Given the description of an element on the screen output the (x, y) to click on. 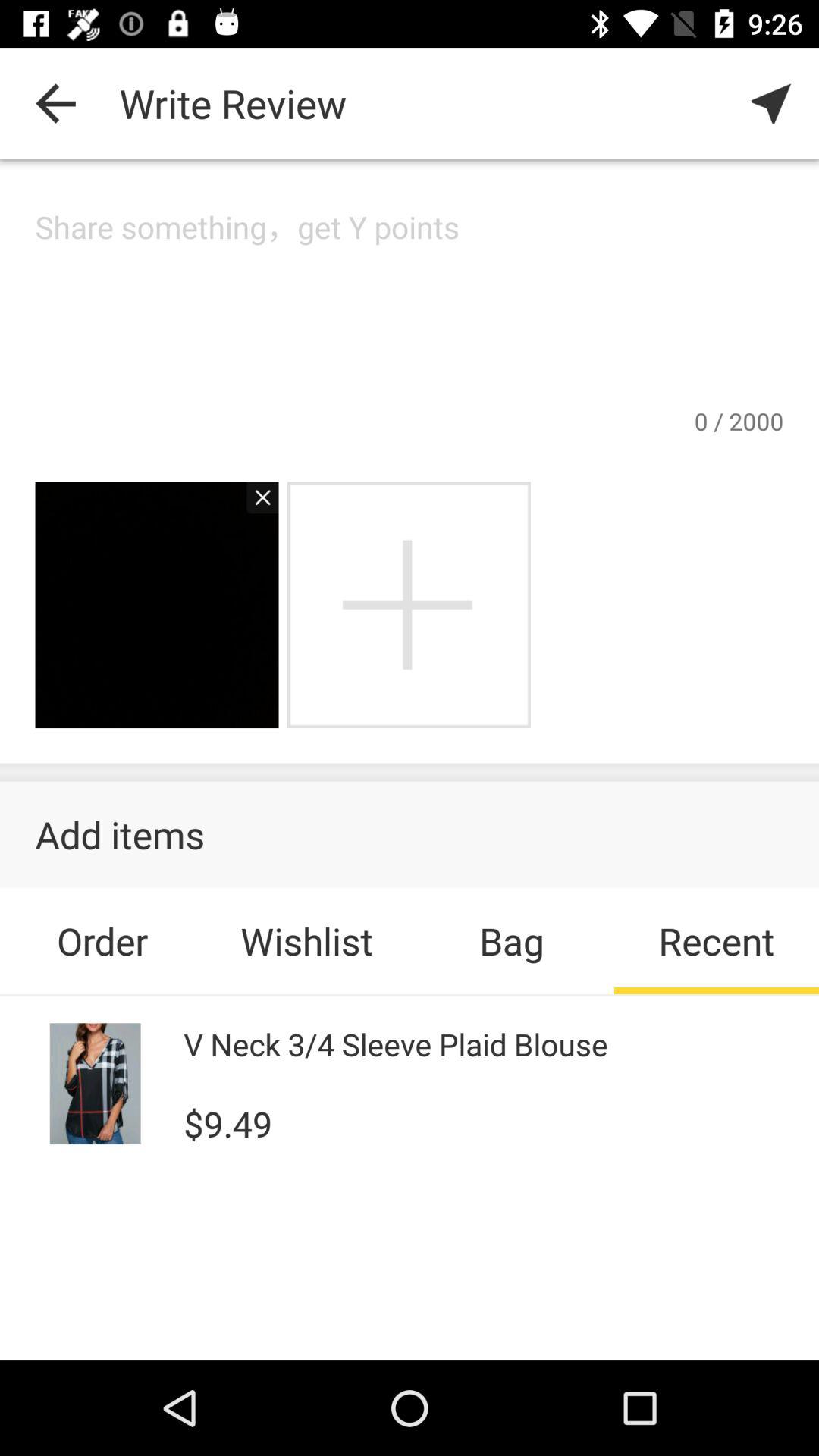
add new item (408, 604)
